Given the description of an element on the screen output the (x, y) to click on. 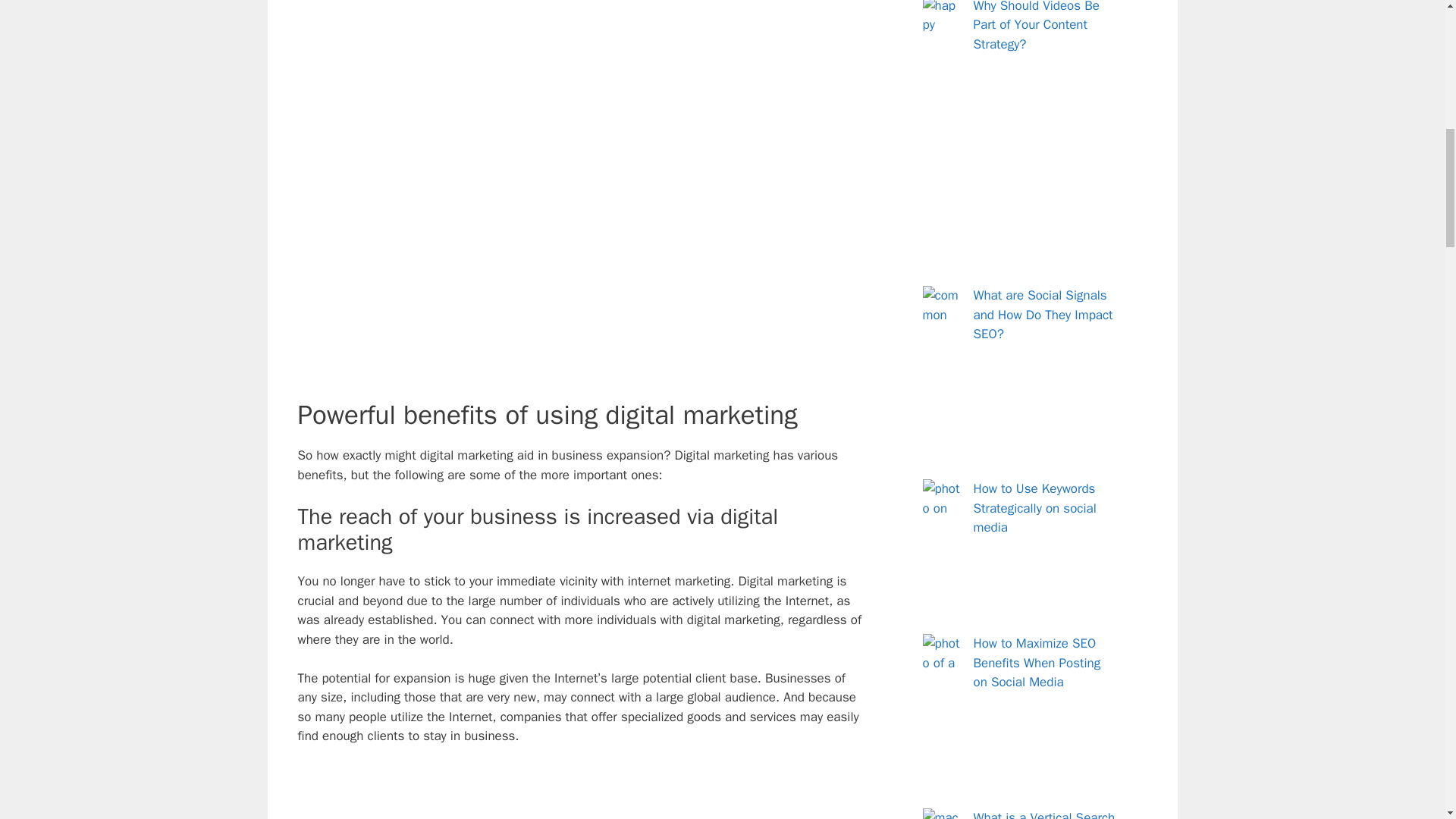
How to Use Keywords Strategically on social media (1035, 507)
What are Social Signals and How Do They Impact SEO? (1043, 314)
What is a Vertical Search Engine? (1044, 814)
How to Maximize SEO Benefits When Posting on Social Media (1037, 662)
Why Should Videos Be Part of Your Content Strategy? (1036, 25)
